Given the description of an element on the screen output the (x, y) to click on. 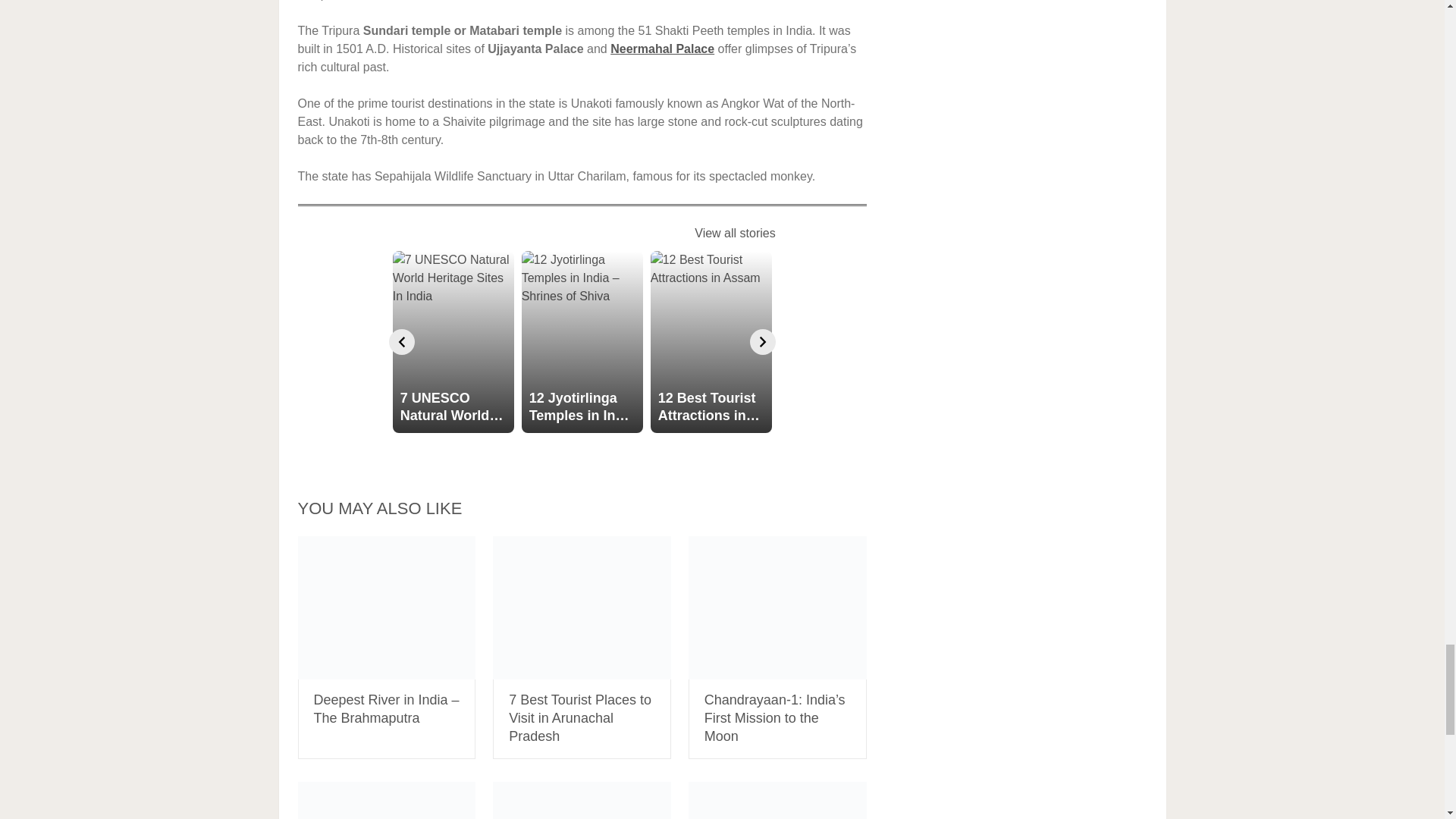
Neermahal Palace (662, 48)
7 Best Tourist Places to Visit in Arunachal Pradesh (582, 608)
10 Interesting Facts about Assam (386, 800)
